Given the description of an element on the screen output the (x, y) to click on. 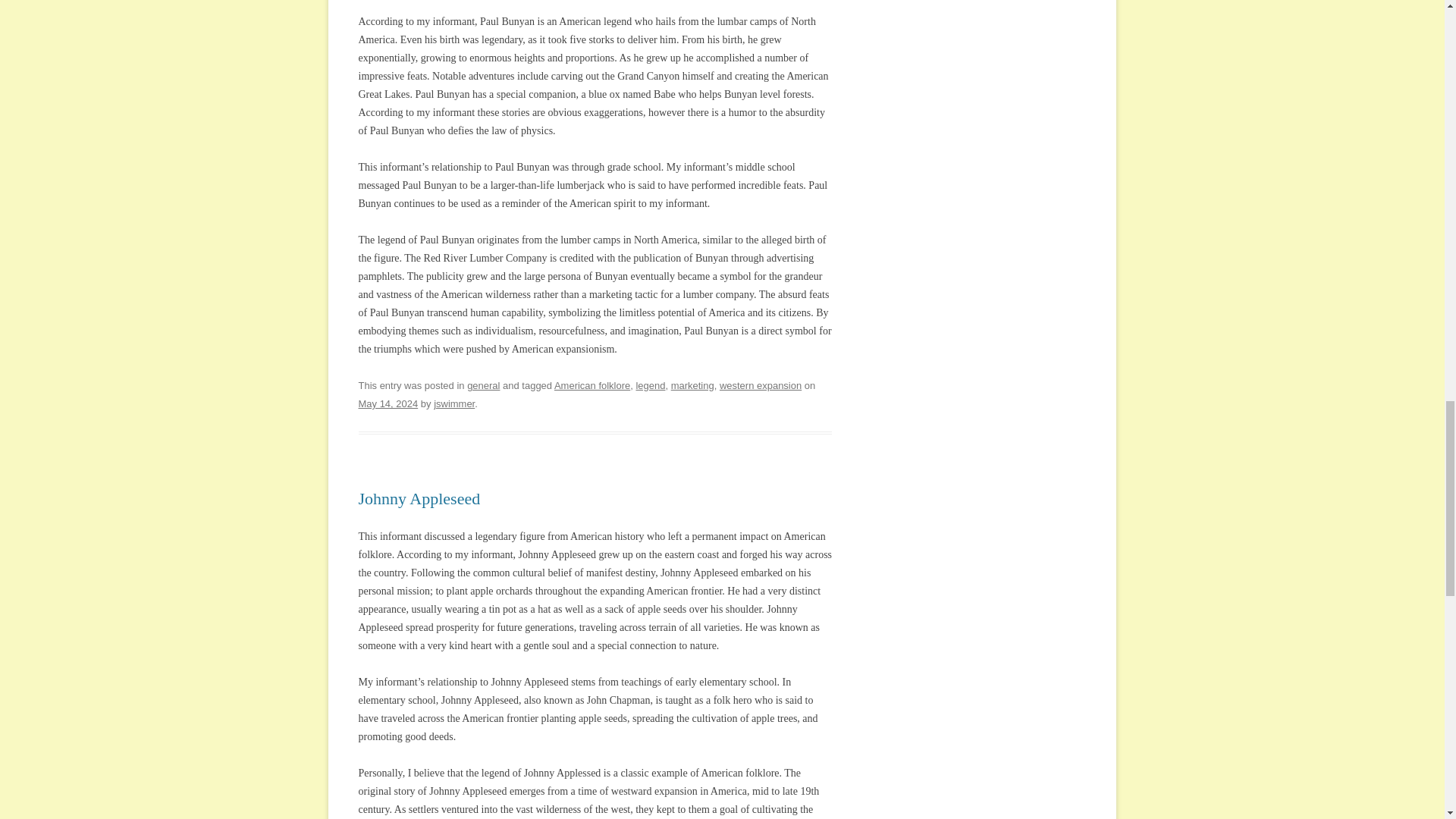
Johnny Appleseed (419, 497)
10:50 am (387, 403)
May 14, 2024 (387, 403)
jswimmer (453, 403)
marketing (692, 385)
general (483, 385)
American folklore (592, 385)
western expansion (760, 385)
View all posts by jswimmer (453, 403)
legend (649, 385)
